Given the description of an element on the screen output the (x, y) to click on. 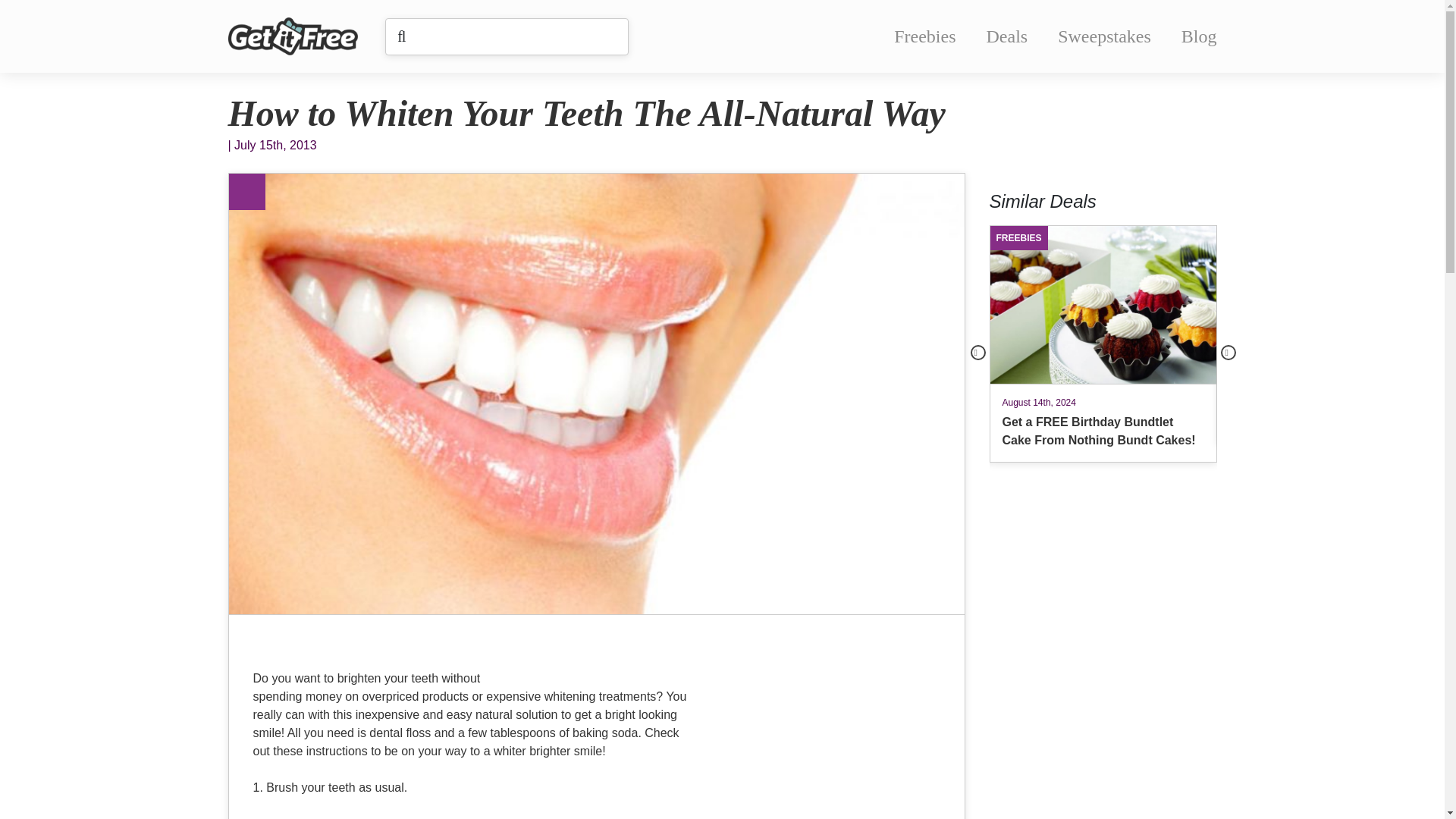
Freebies (924, 35)
Sweepstakes (1104, 35)
Blog (1198, 35)
Deals (1007, 35)
Previous (978, 352)
Next (1228, 352)
